Given the description of an element on the screen output the (x, y) to click on. 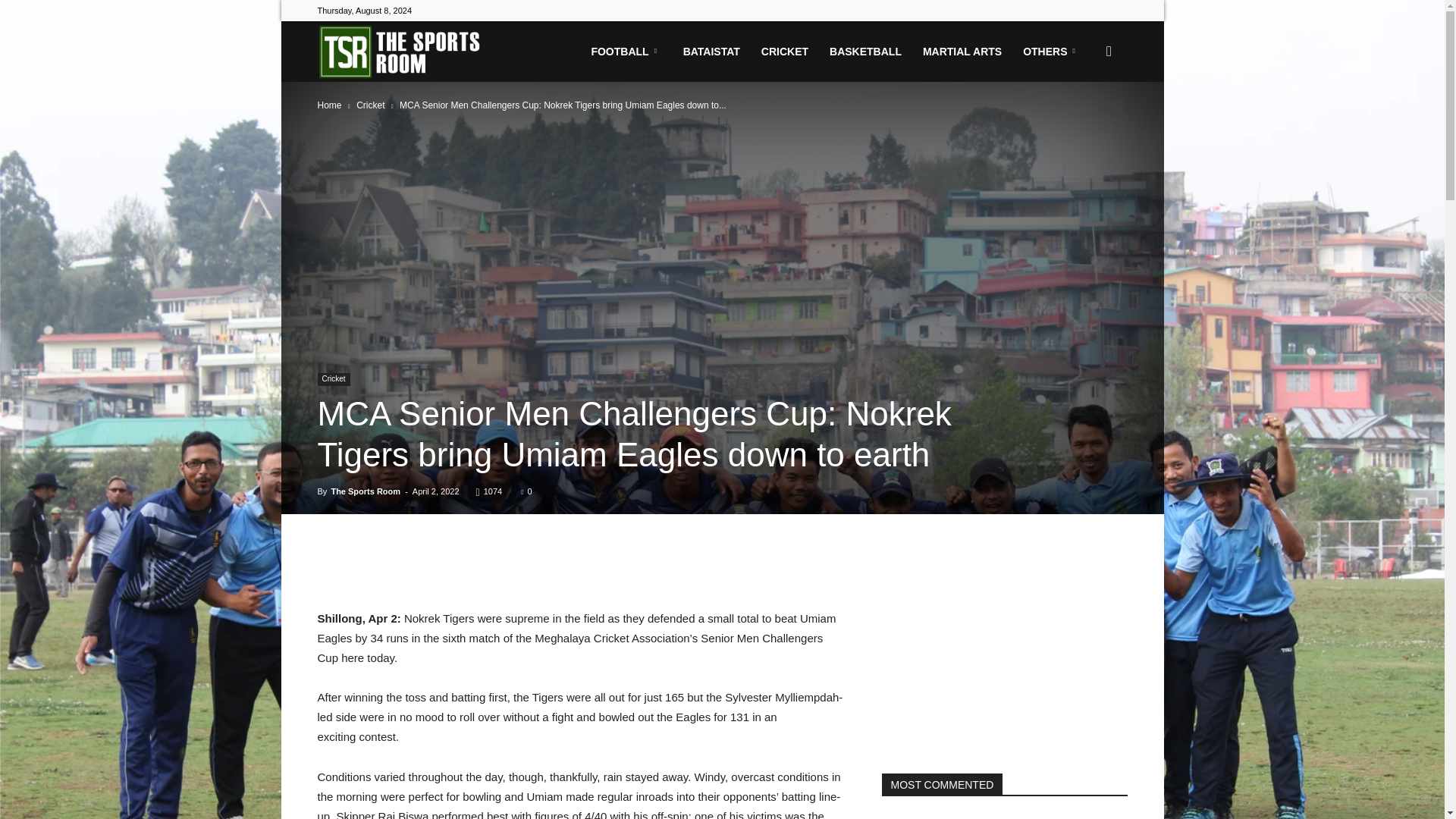
View all posts in Cricket (370, 104)
BATAISTAT (711, 51)
Instagram (1090, 10)
FOOTBALL (625, 51)
Facebook (1065, 10)
The Sports Room (401, 51)
Youtube (1114, 10)
CRICKET (784, 51)
Search (1085, 124)
